Given the description of an element on the screen output the (x, y) to click on. 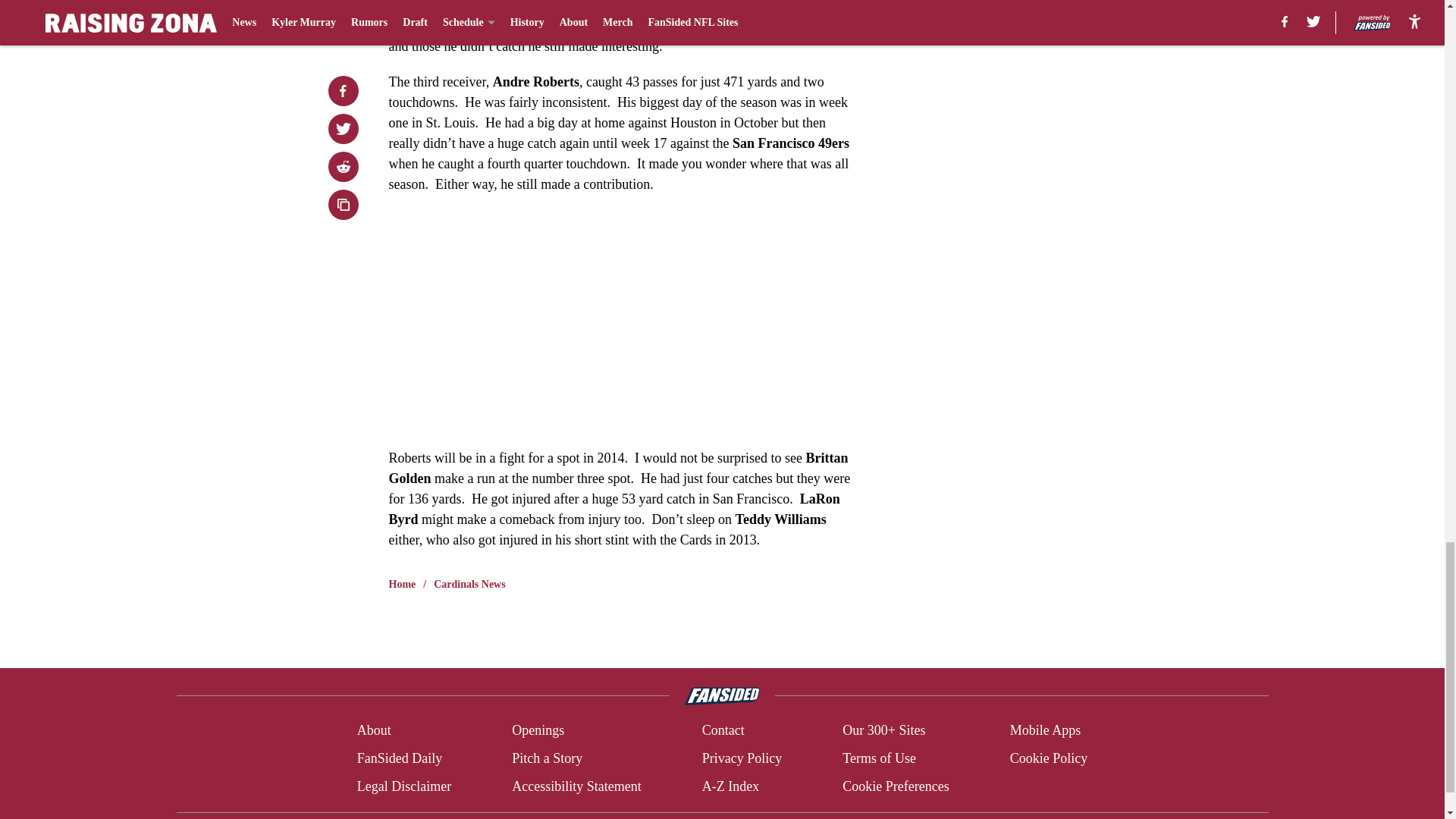
About (373, 730)
Cardinals News (469, 584)
Cookie Preferences (896, 786)
Home (401, 584)
Contact (722, 730)
Terms of Use (879, 758)
Legal Disclaimer (403, 786)
Pitch a Story (547, 758)
Accessibility Statement (576, 786)
FanSided Daily (399, 758)
